Given the description of an element on the screen output the (x, y) to click on. 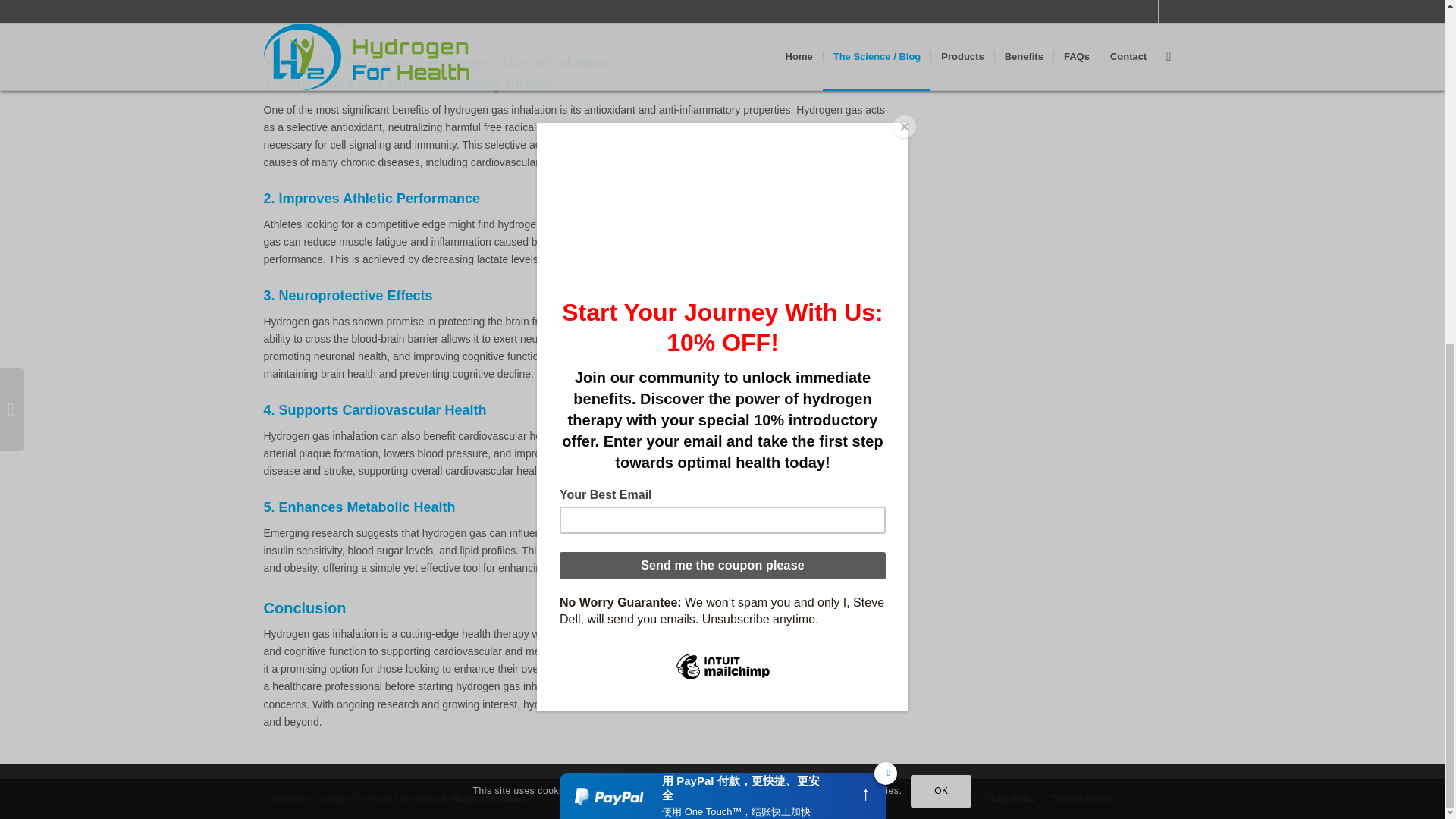
Myogenic Solutions (488, 798)
Affiliate Area (944, 798)
Privacy Policy (1007, 798)
